Given the description of an element on the screen output the (x, y) to click on. 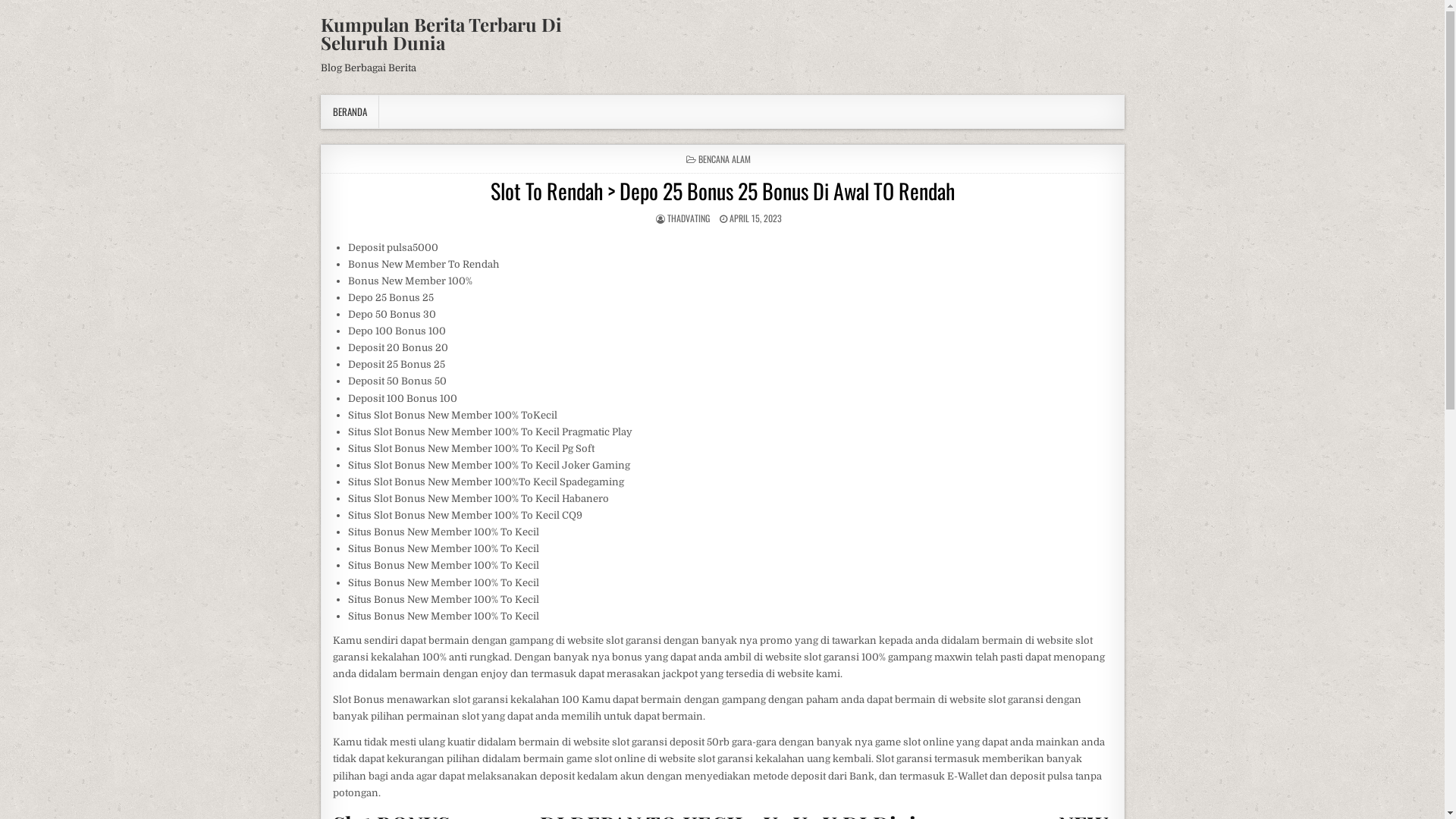
AUTHOR:
THADVATING Element type: text (688, 217)
BERANDA Element type: text (350, 111)
Slot To Rendah > Depo 25 Bonus 25 Bonus Di Awal TO Rendah Element type: text (721, 190)
Kumpulan Berita Terbaru Di Seluruh Dunia Element type: text (440, 33)
BENCANA ALAM Element type: text (724, 158)
